Given the description of an element on the screen output the (x, y) to click on. 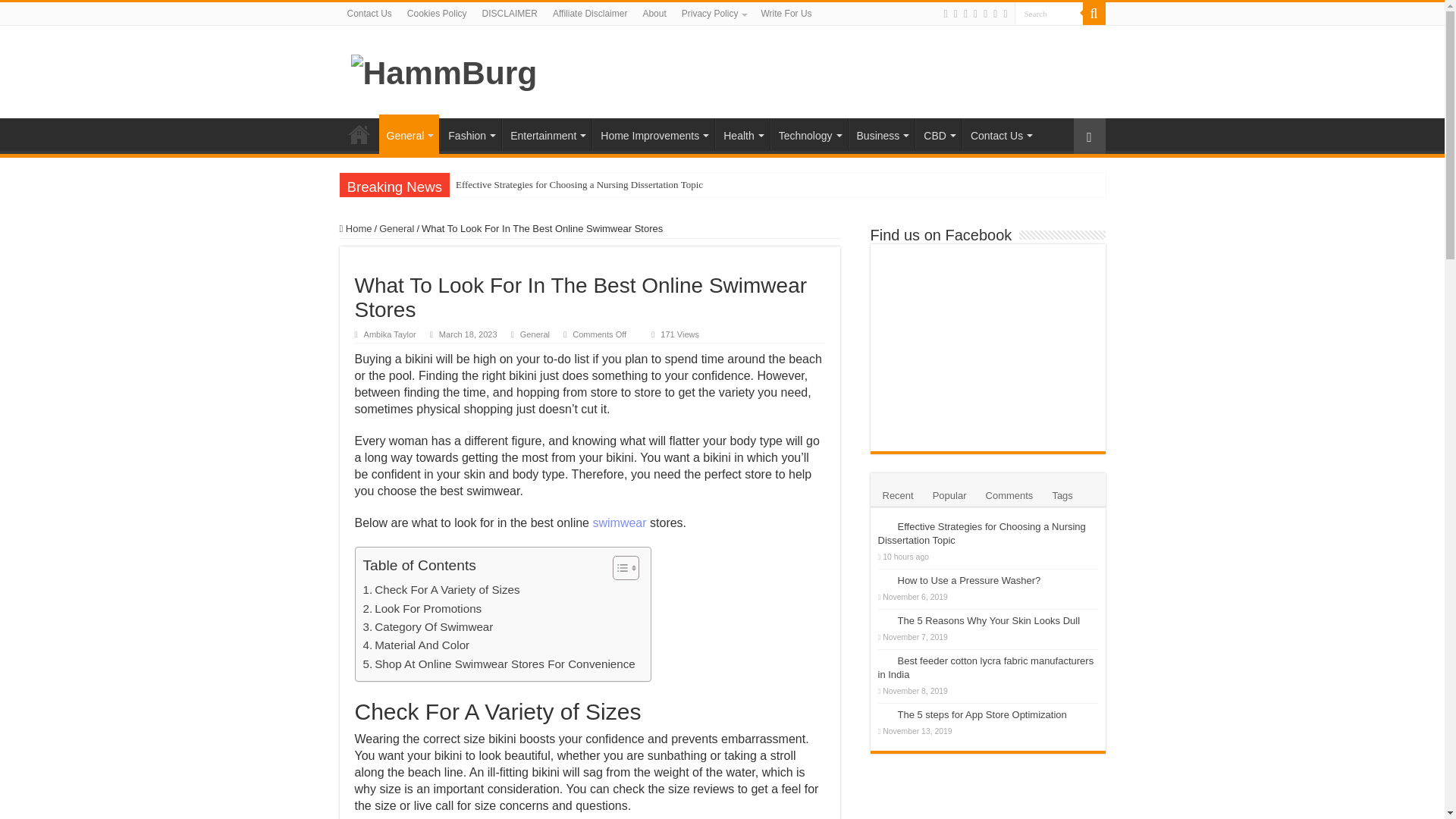
Cookies Policy (436, 13)
Pinterest (965, 13)
Search (1048, 13)
Twitter (955, 13)
Contact Us (368, 13)
Write For Us (785, 13)
Search (1048, 13)
Affiliate Disclaimer (589, 13)
Facebook (945, 13)
General (408, 133)
Search (1048, 13)
Privacy Policy (714, 13)
About (653, 13)
Search (1094, 13)
